Given the description of an element on the screen output the (x, y) to click on. 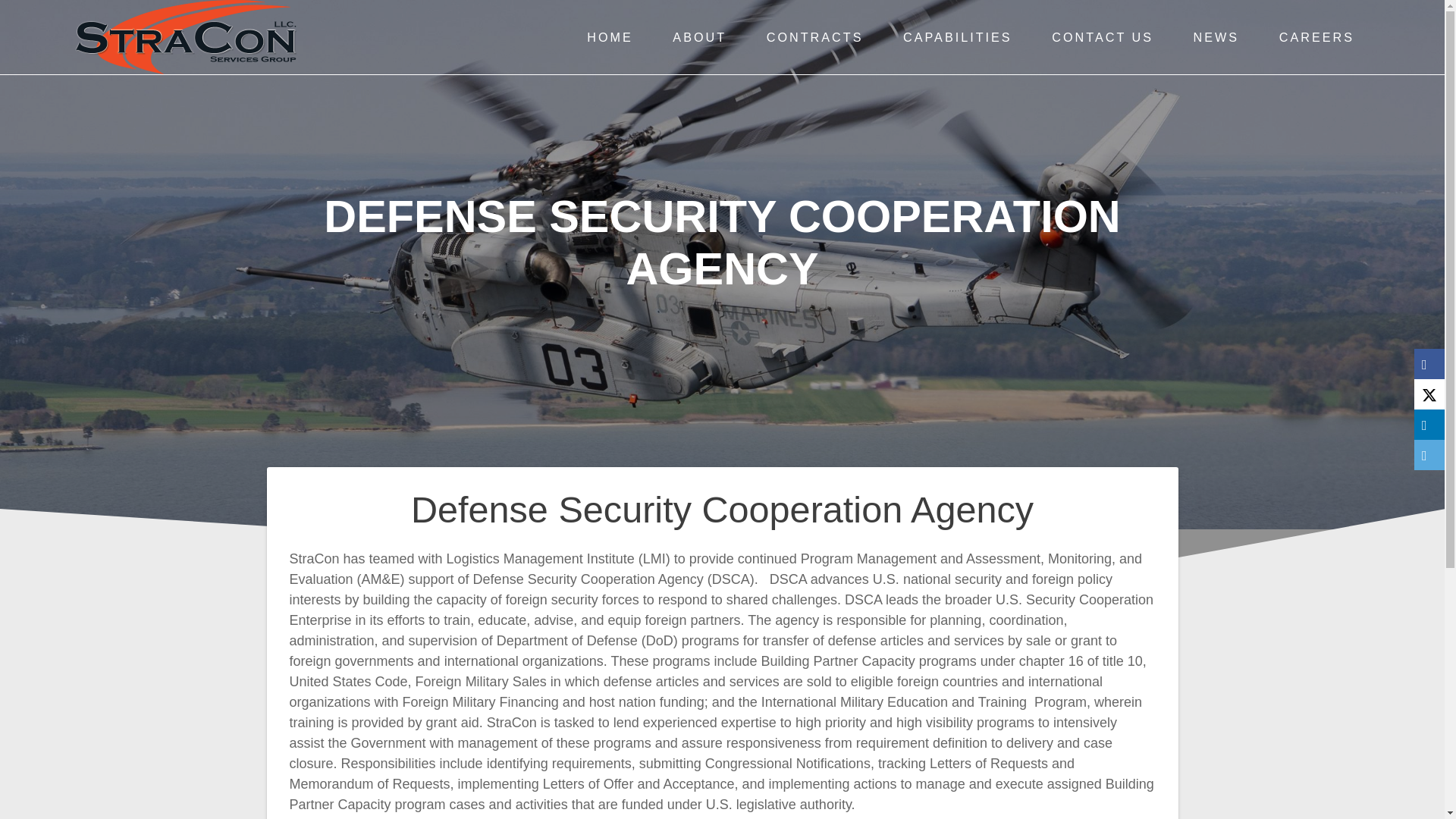
CONTACT US (1102, 37)
CAREERS (1316, 37)
CONTRACTS (815, 37)
CAPABILITIES (956, 37)
